Given the description of an element on the screen output the (x, y) to click on. 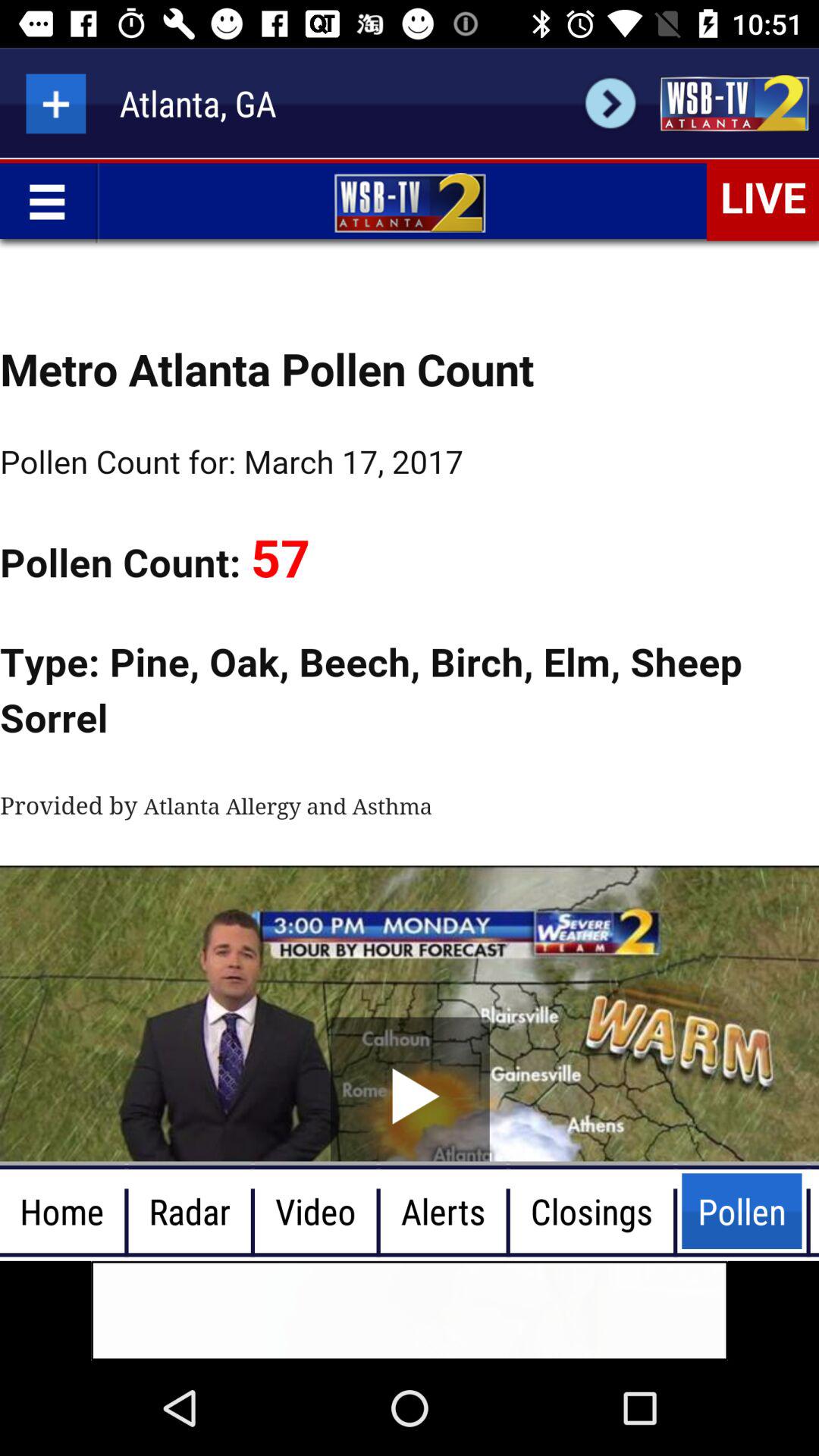
go to next page (610, 103)
